Given the description of an element on the screen output the (x, y) to click on. 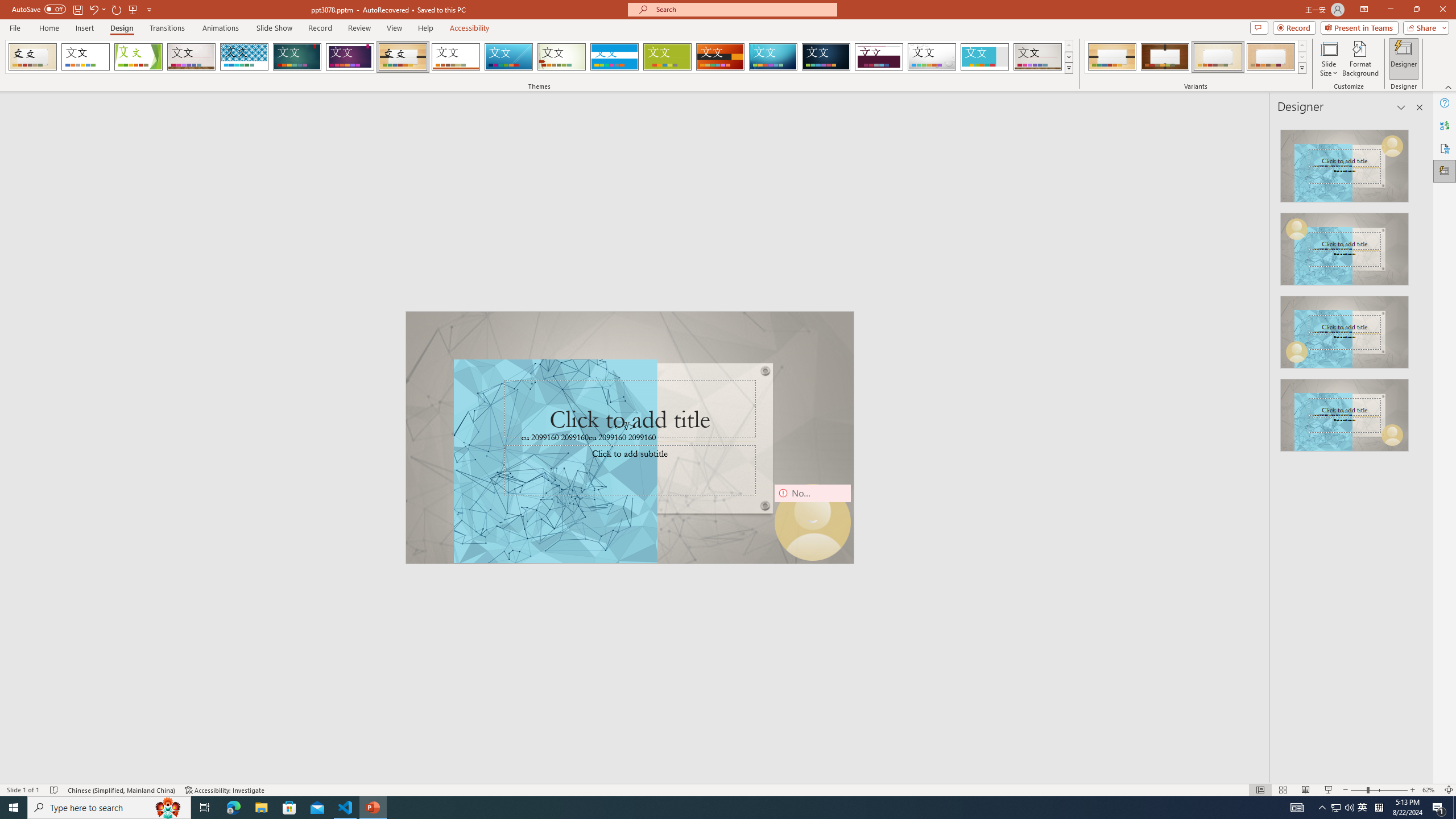
Adjust indents and spacing - Microsoft Support (23, 315)
Show Output Log (1311, 719)
Customize Layout... (1438, 150)
icon (1371, 114)
Views and More Actions... (1374, 533)
Retry (1404, 719)
Terminal (Ctrl+`) (579, 533)
